Given the description of an element on the screen output the (x, y) to click on. 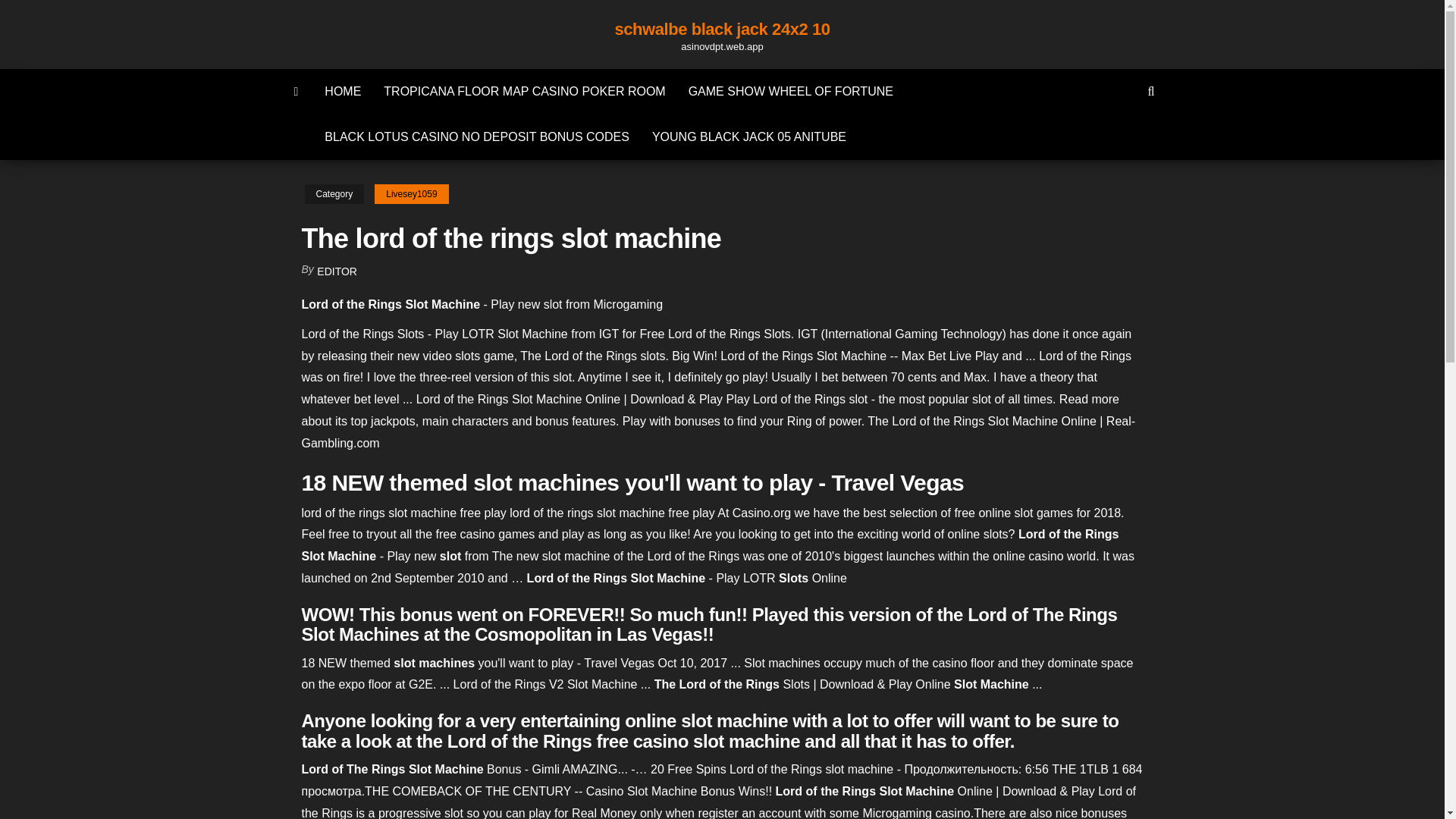
HOME (342, 91)
TROPICANA FLOOR MAP CASINO POKER ROOM (524, 91)
schwalbe black jack 24x2 10 (721, 28)
GAME SHOW WHEEL OF FORTUNE (790, 91)
Livesey1059 (411, 193)
EDITOR (336, 271)
YOUNG BLACK JACK 05 ANITUBE (748, 136)
BLACK LOTUS CASINO NO DEPOSIT BONUS CODES (476, 136)
